Given the description of an element on the screen output the (x, y) to click on. 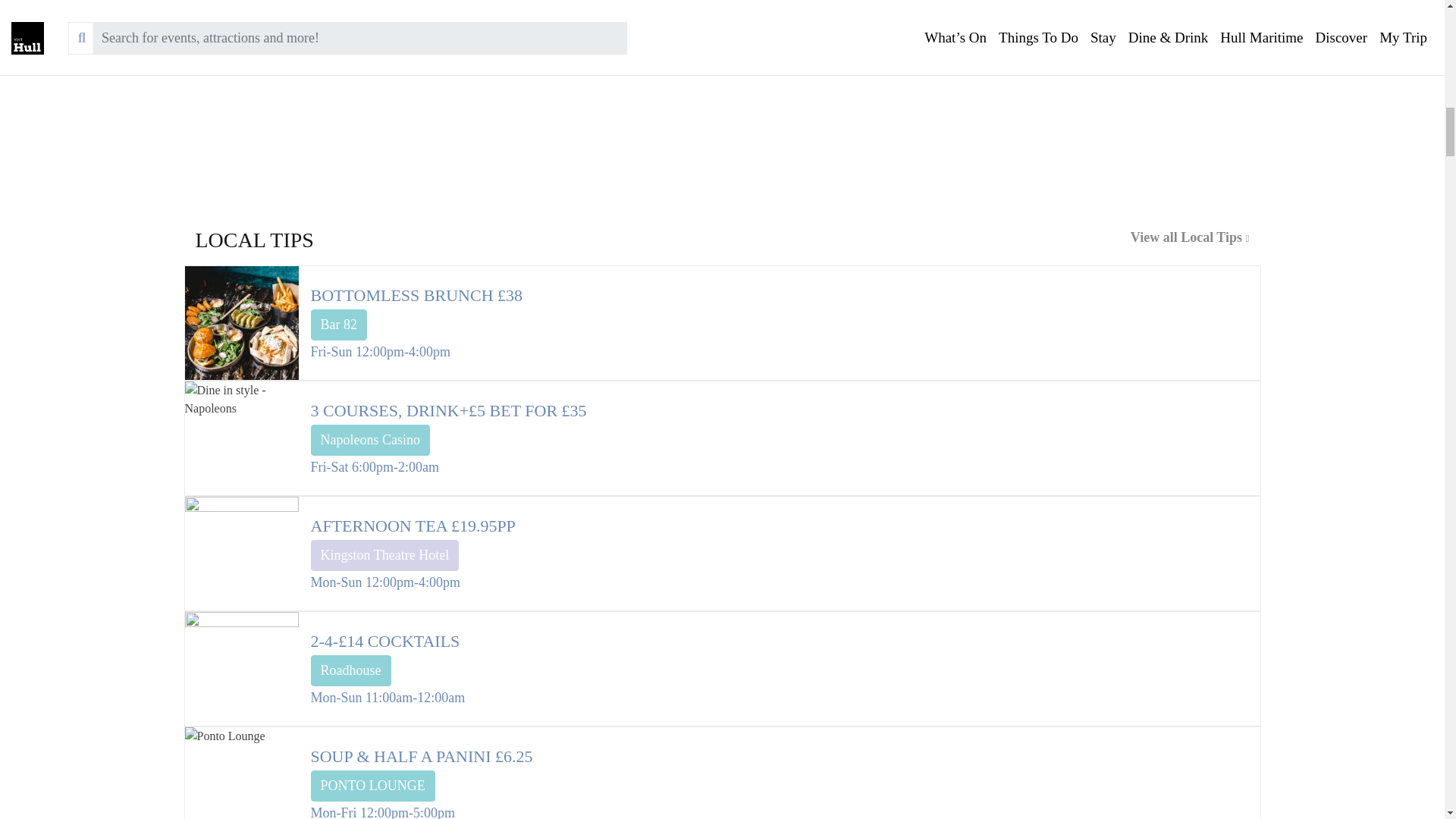
Kingston Theatre Hotel (385, 554)
View all Local Tips (991, 246)
Bar 82 (339, 324)
Napoleons Casino (370, 440)
PONTO LOUNGE (373, 785)
Roadhouse (351, 670)
